Given the description of an element on the screen output the (x, y) to click on. 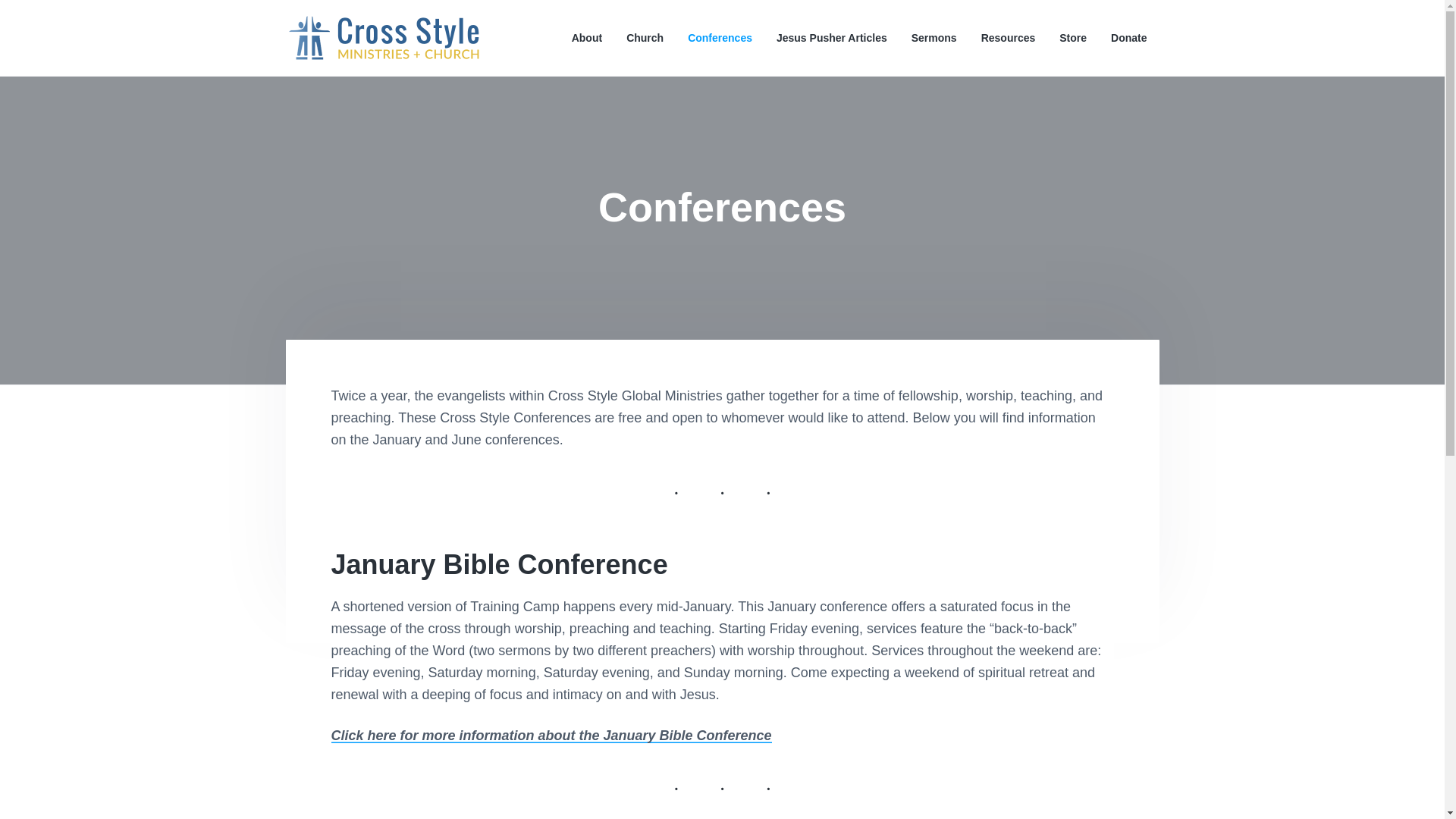
Sermons (933, 37)
Church (644, 37)
Jesus Pusher Articles (831, 37)
About (587, 37)
Store (1072, 37)
Resources (1008, 37)
Donate (1128, 37)
Conferences (719, 37)
